Given the description of an element on the screen output the (x, y) to click on. 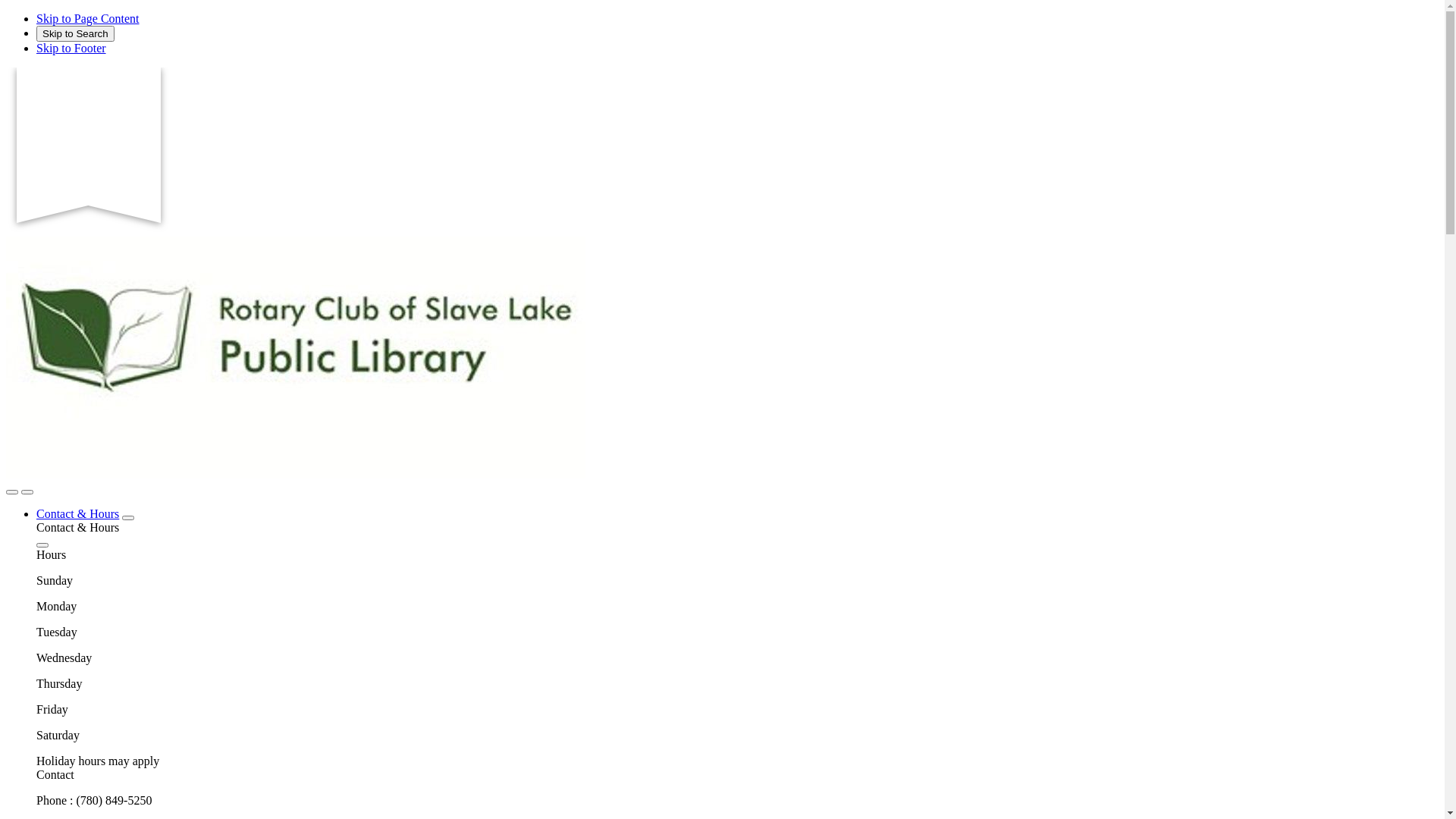
Rotary Club of Slave Lake Public Library Element type: hover (295, 473)
Contact & Hours Element type: text (77, 513)
Skip to Footer Element type: text (71, 47)
Skip to Page Content Element type: text (87, 18)
Skip to Search Element type: text (75, 33)
